Given the description of an element on the screen output the (x, y) to click on. 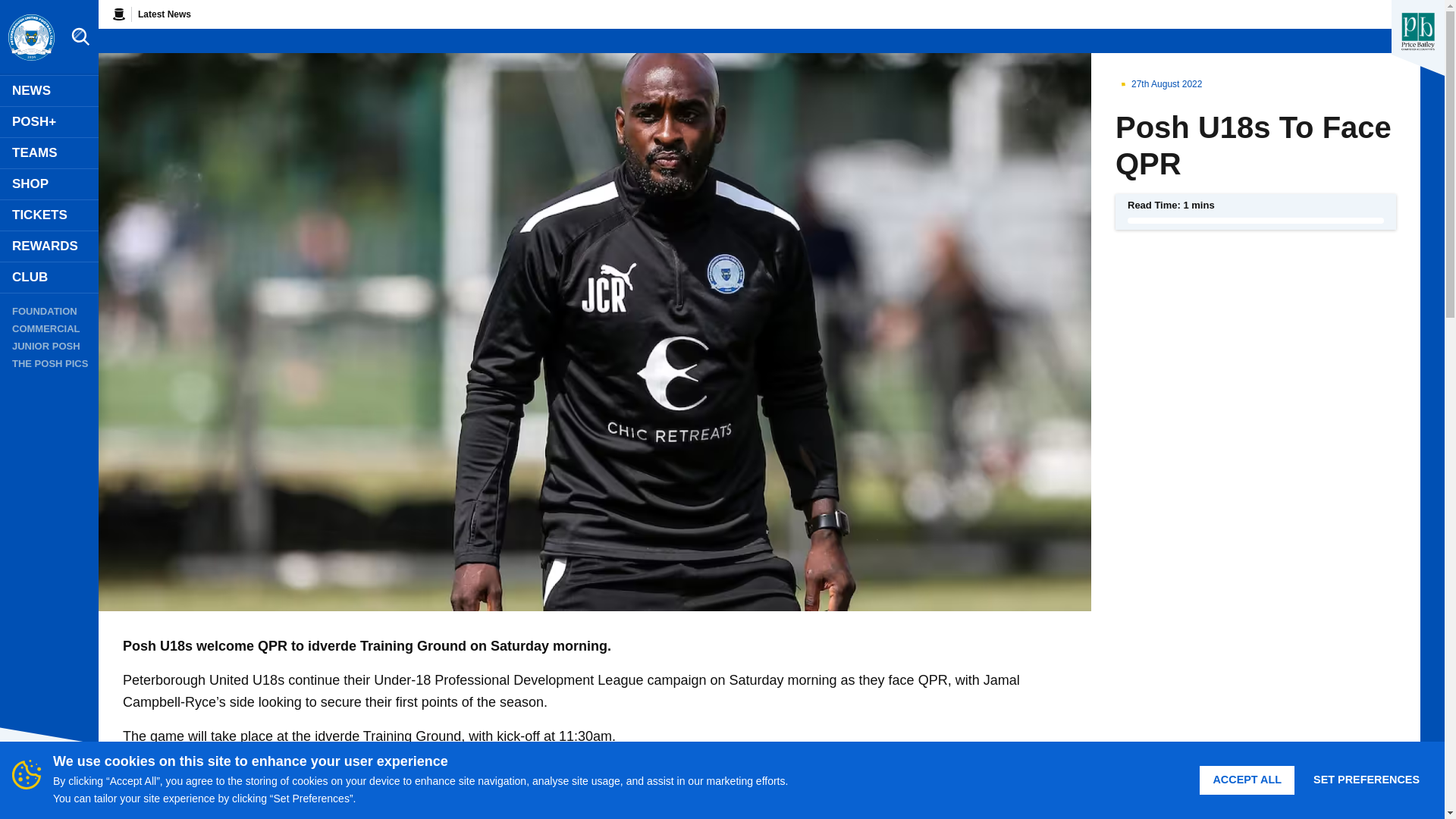
Link to Peterborough United homepage (31, 37)
News (49, 91)
TEAMS (49, 153)
NEWS (49, 91)
